Given the description of an element on the screen output the (x, y) to click on. 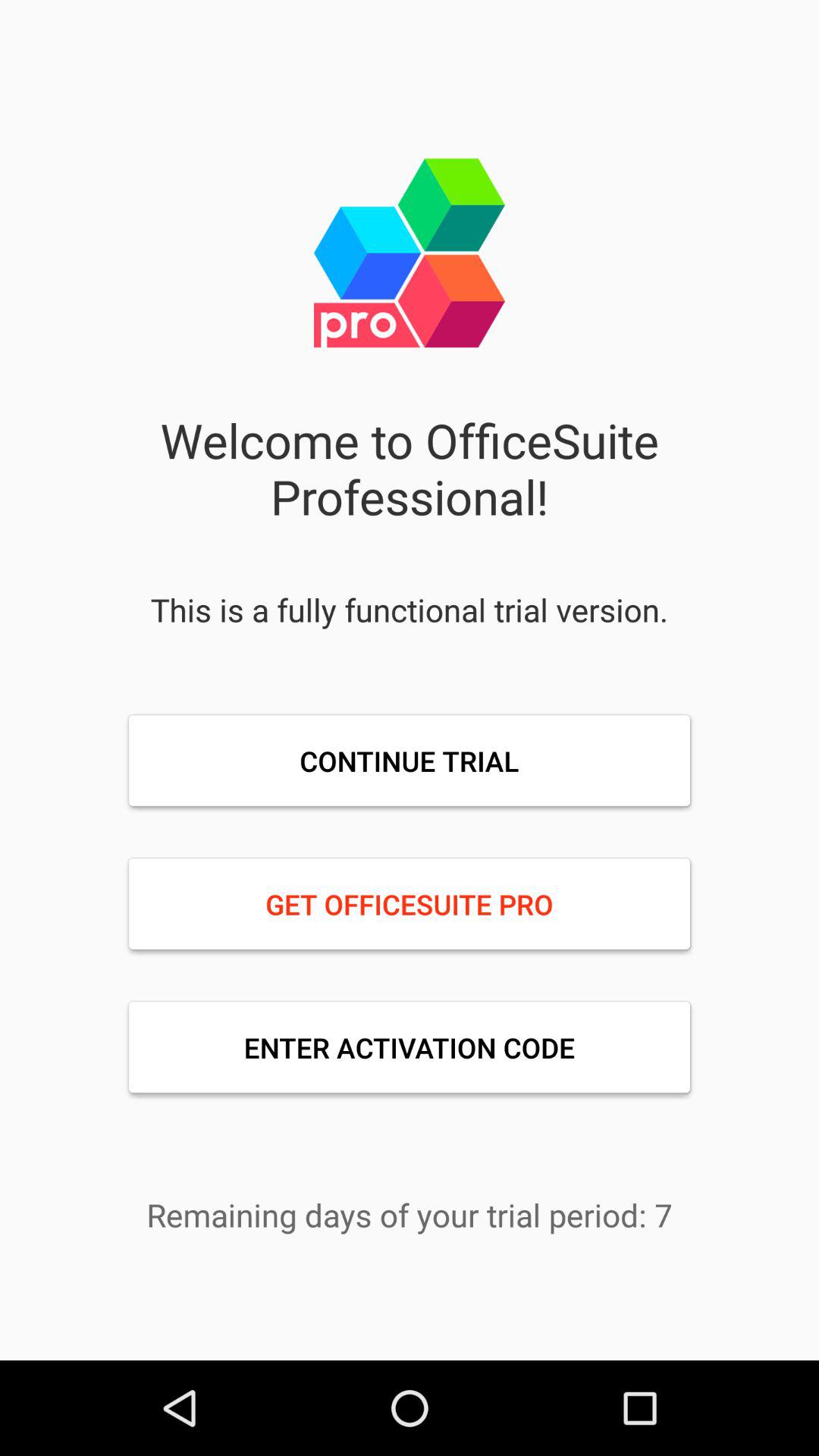
launch the icon above the remaining days of (409, 1047)
